Given the description of an element on the screen output the (x, y) to click on. 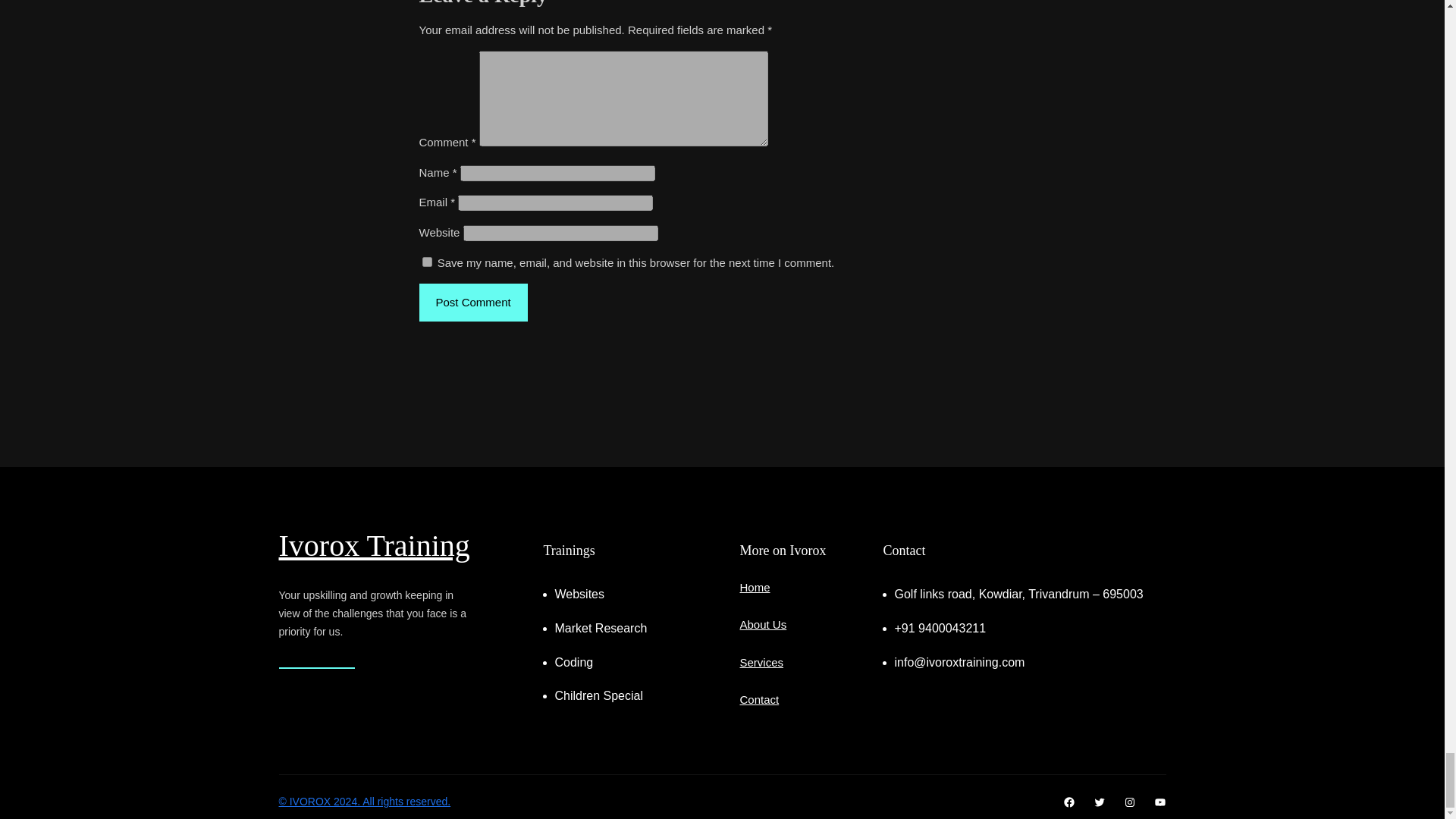
yes (426, 261)
Post Comment (473, 302)
YouTube (1160, 802)
Contact (758, 698)
Twitter (1099, 802)
Facebook (1068, 802)
About Us (763, 624)
Post Comment (473, 302)
Home (754, 586)
Instagram (1129, 802)
